Given the description of an element on the screen output the (x, y) to click on. 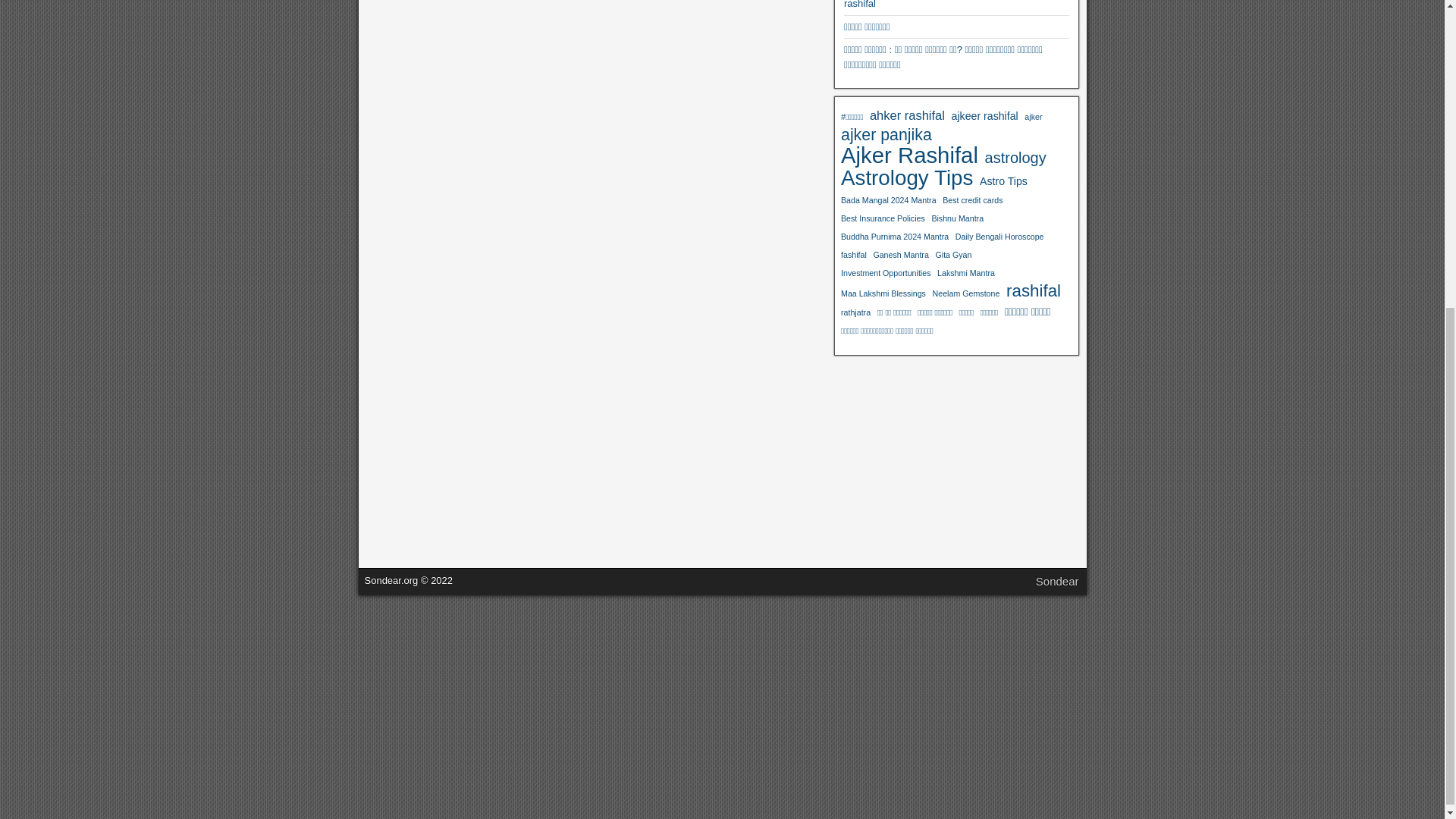
ajkeer rashifal (984, 116)
ajker (1033, 116)
Ganesh Mantra (900, 254)
Bada Mangal 2024 Mantra (888, 199)
ahker rashifal (906, 115)
Gita Gyan (952, 254)
Astrology Tips (906, 177)
rashifal (1033, 290)
Investment Opportunities (885, 272)
rashifal (860, 4)
Bishnu Mantra (957, 218)
Buddha Purnima 2024 Mantra (895, 236)
ajker panjika (886, 135)
fashifal (853, 254)
